Given the description of an element on the screen output the (x, y) to click on. 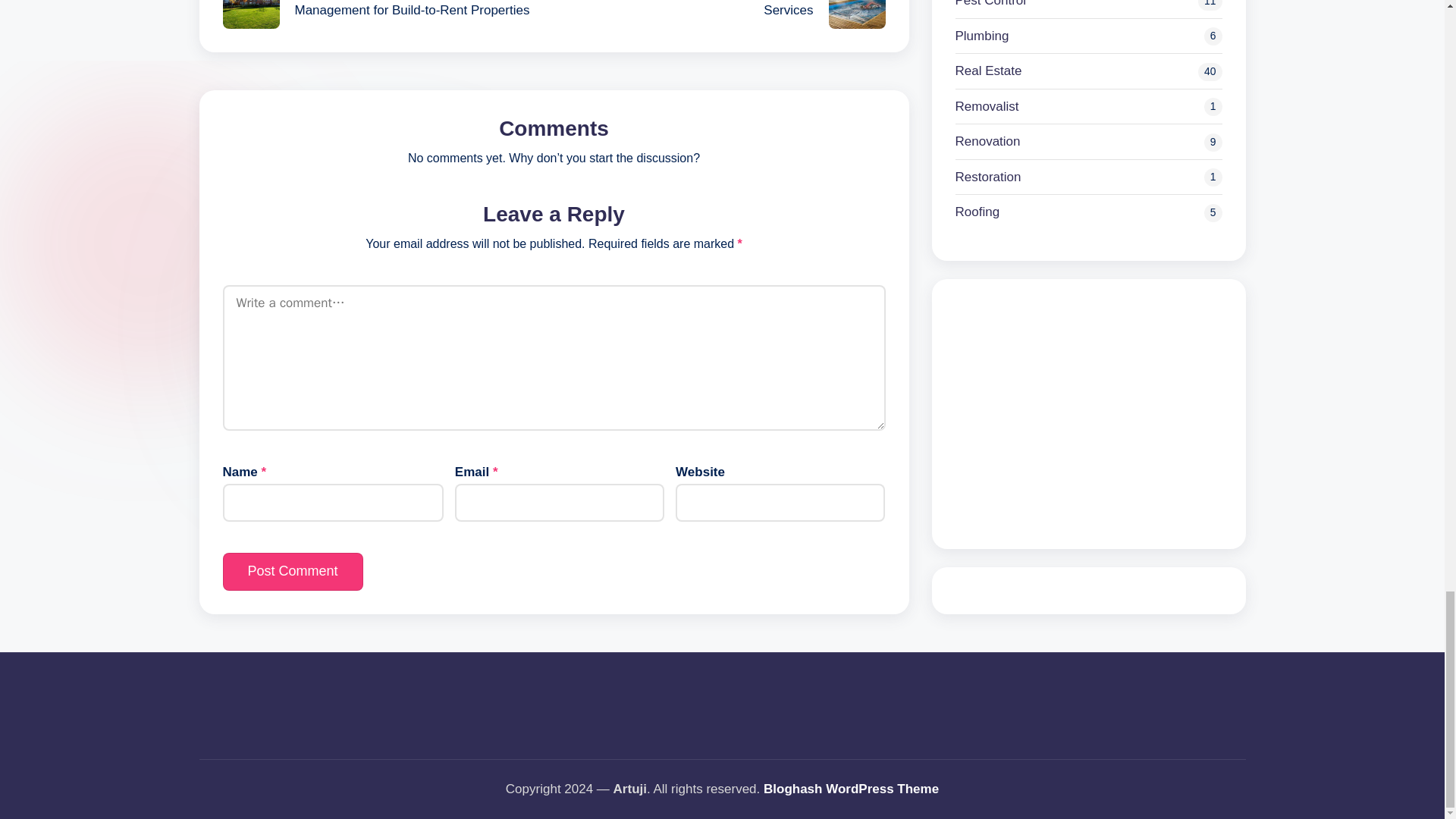
Top 5 Tips to Find the Pool Construction Services (719, 14)
Post Comment (292, 570)
Post Comment (292, 570)
